Given the description of an element on the screen output the (x, y) to click on. 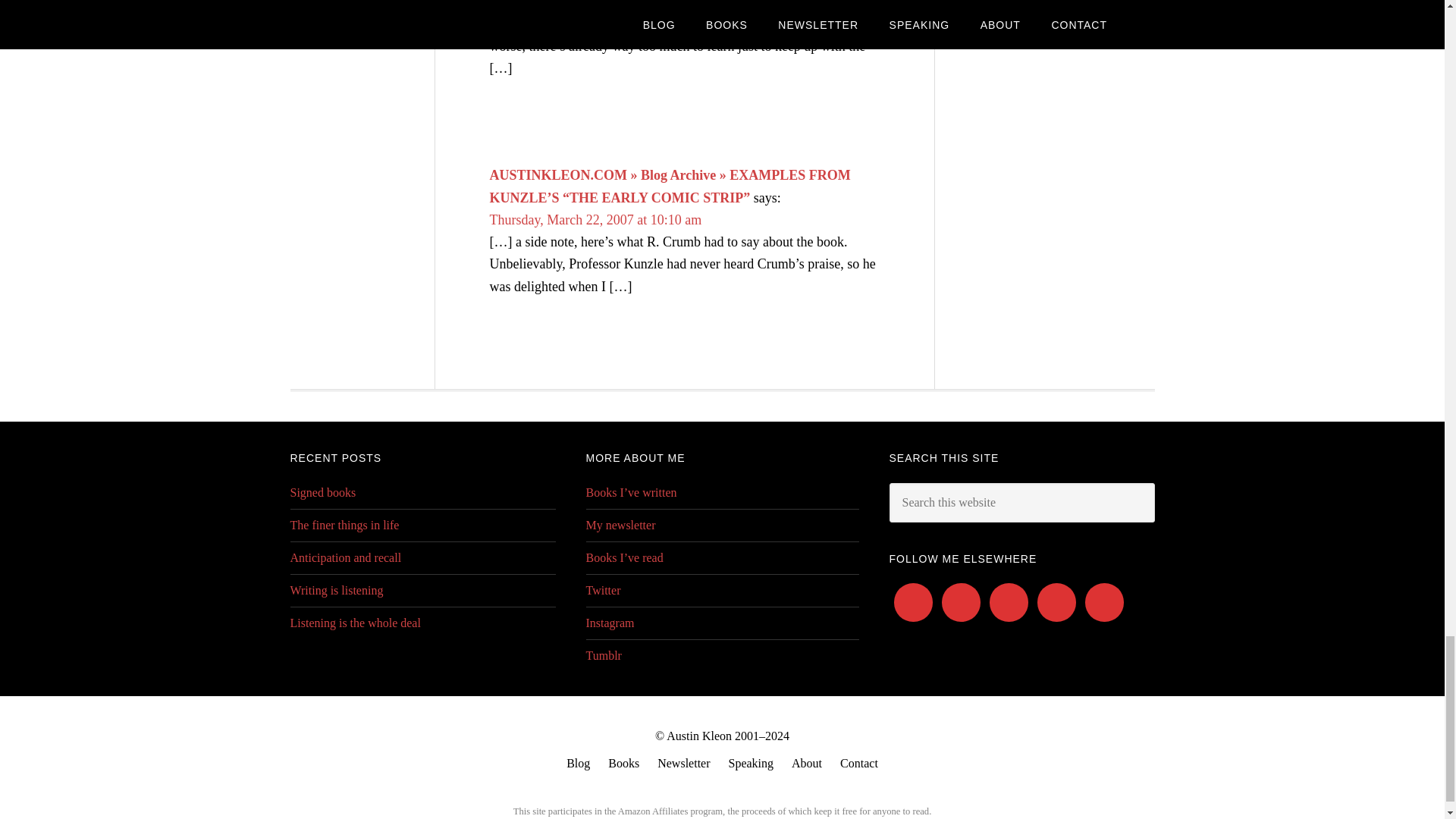
Thursday, March 22, 2007 at 10:10 am (595, 219)
Read my books (623, 763)
